Given the description of an element on the screen output the (x, y) to click on. 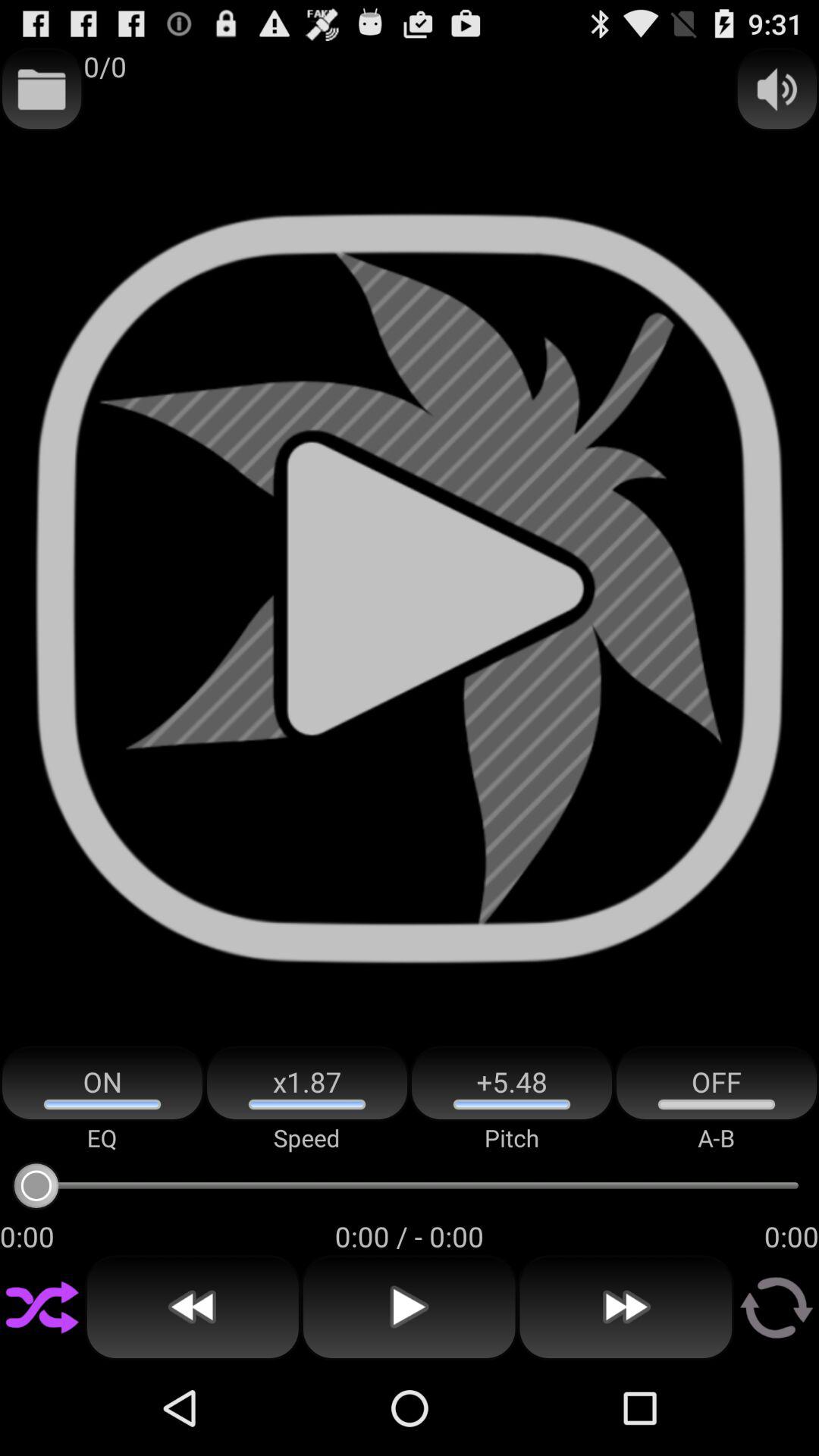
click the item above the a-b app (716, 1083)
